Given the description of an element on the screen output the (x, y) to click on. 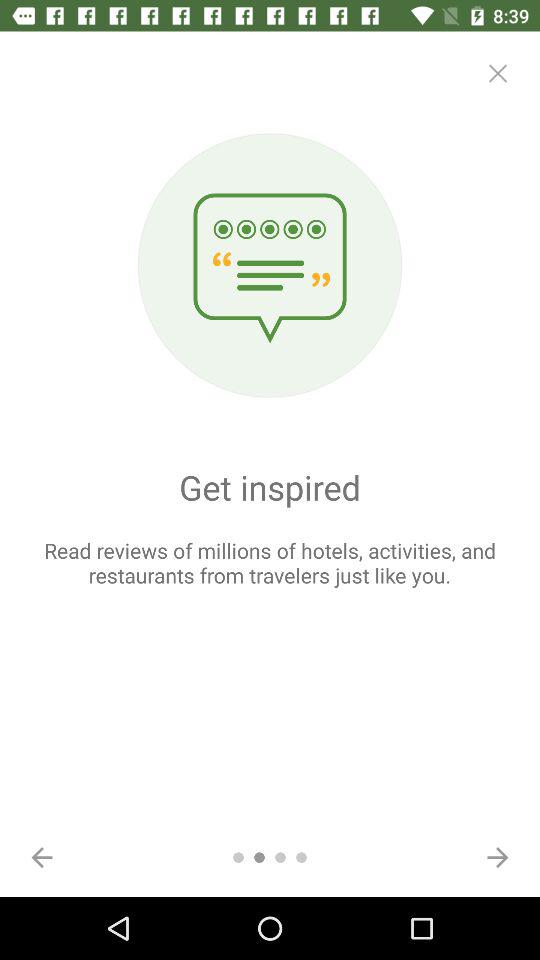
select item below read reviews of (42, 857)
